Given the description of an element on the screen output the (x, y) to click on. 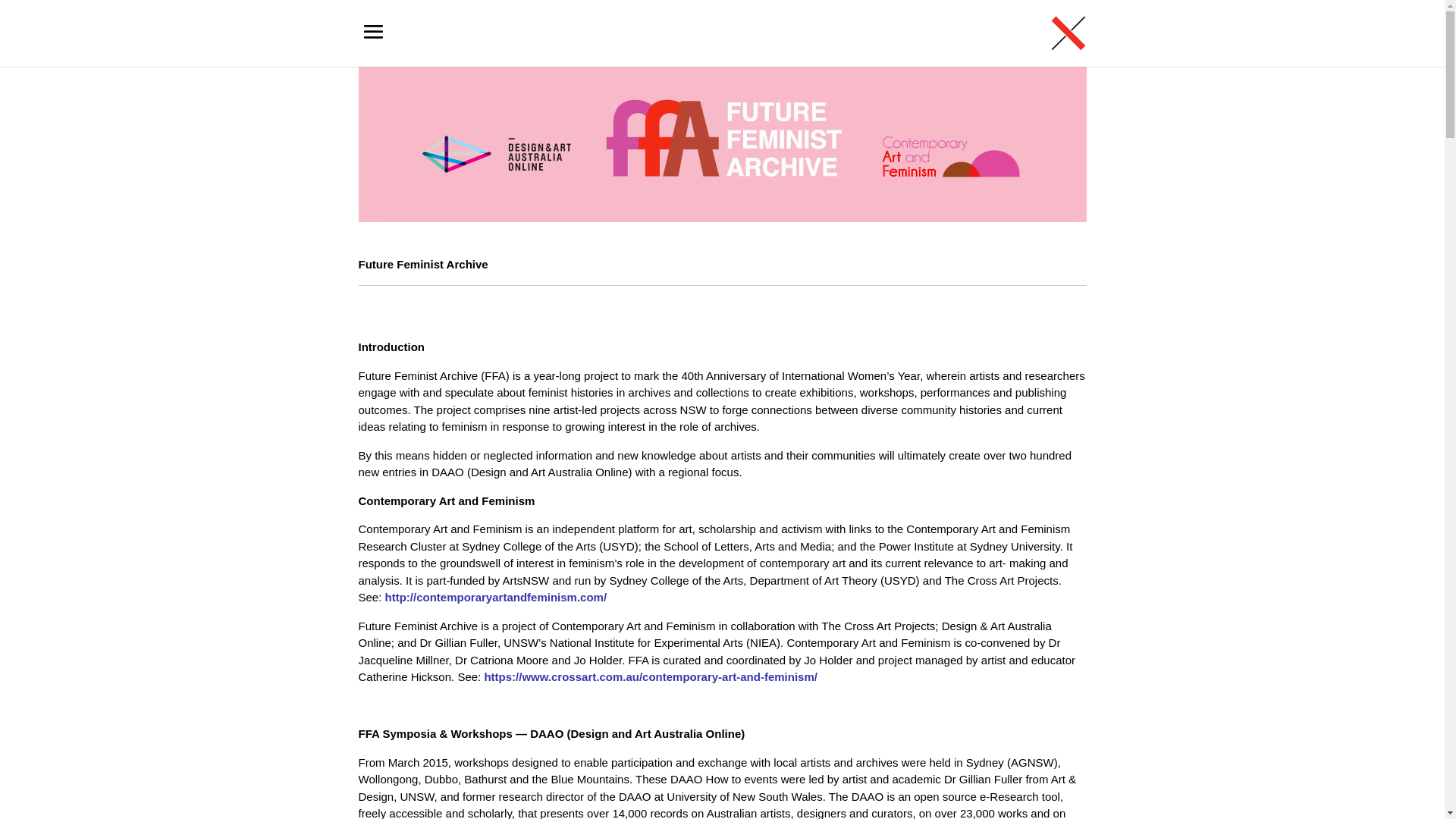
future-feminist-archive-banner Element type: hover (721, 144)
http://contemporaryartandfeminism.com/ Element type: text (496, 596)
https://www.crossart.com.au/contemporary-art-and-feminism/ Element type: text (650, 676)
